Given the description of an element on the screen output the (x, y) to click on. 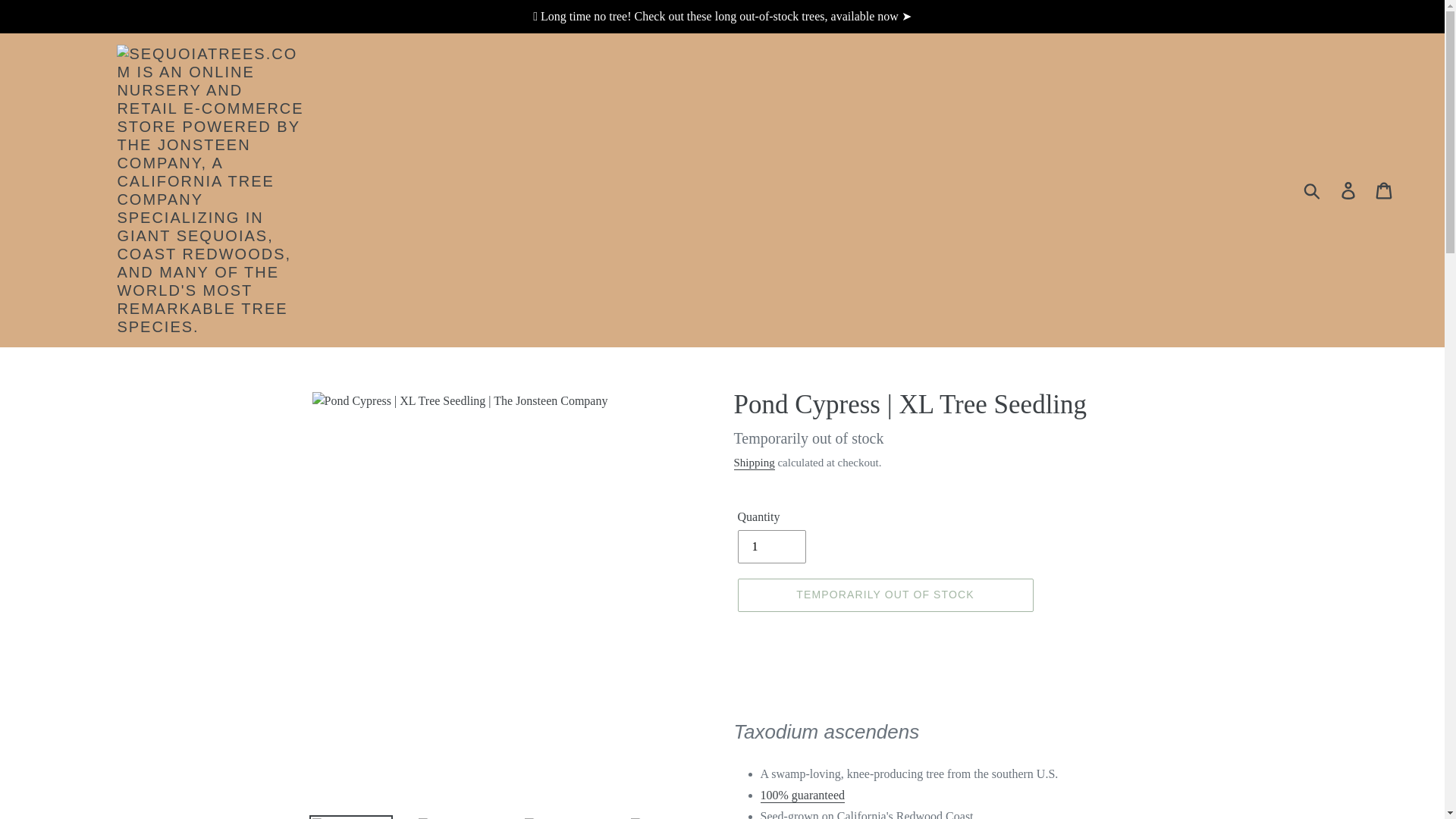
Cart (1385, 190)
1 (770, 546)
Tree Replacement Guarantee (802, 795)
Submit (1313, 190)
Log in (1349, 190)
